Given the description of an element on the screen output the (x, y) to click on. 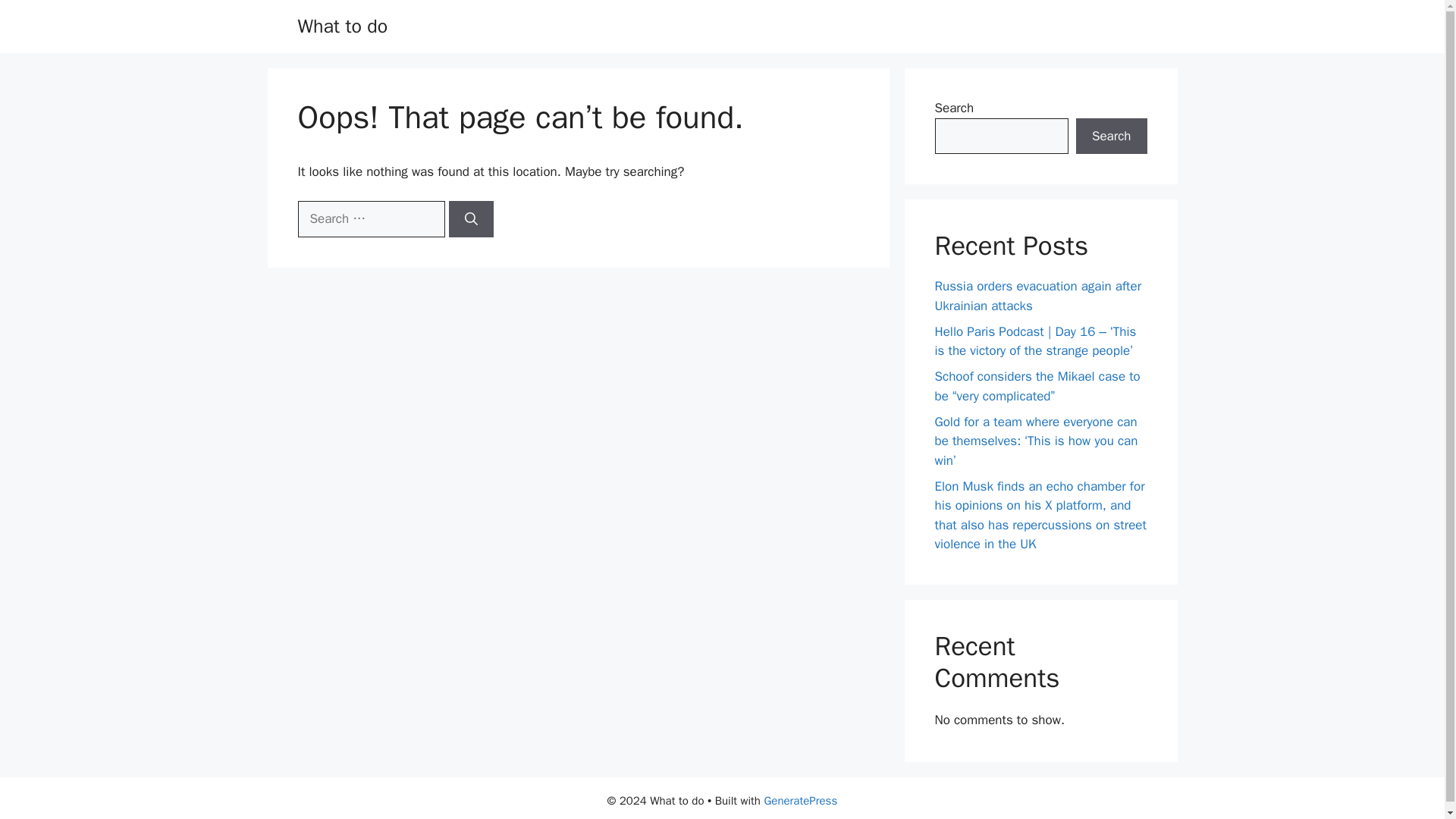
Russia orders evacuation again after Ukrainian attacks (1037, 295)
Search for: (370, 218)
Search (1111, 135)
GeneratePress (799, 800)
What to do (342, 25)
